Given the description of an element on the screen output the (x, y) to click on. 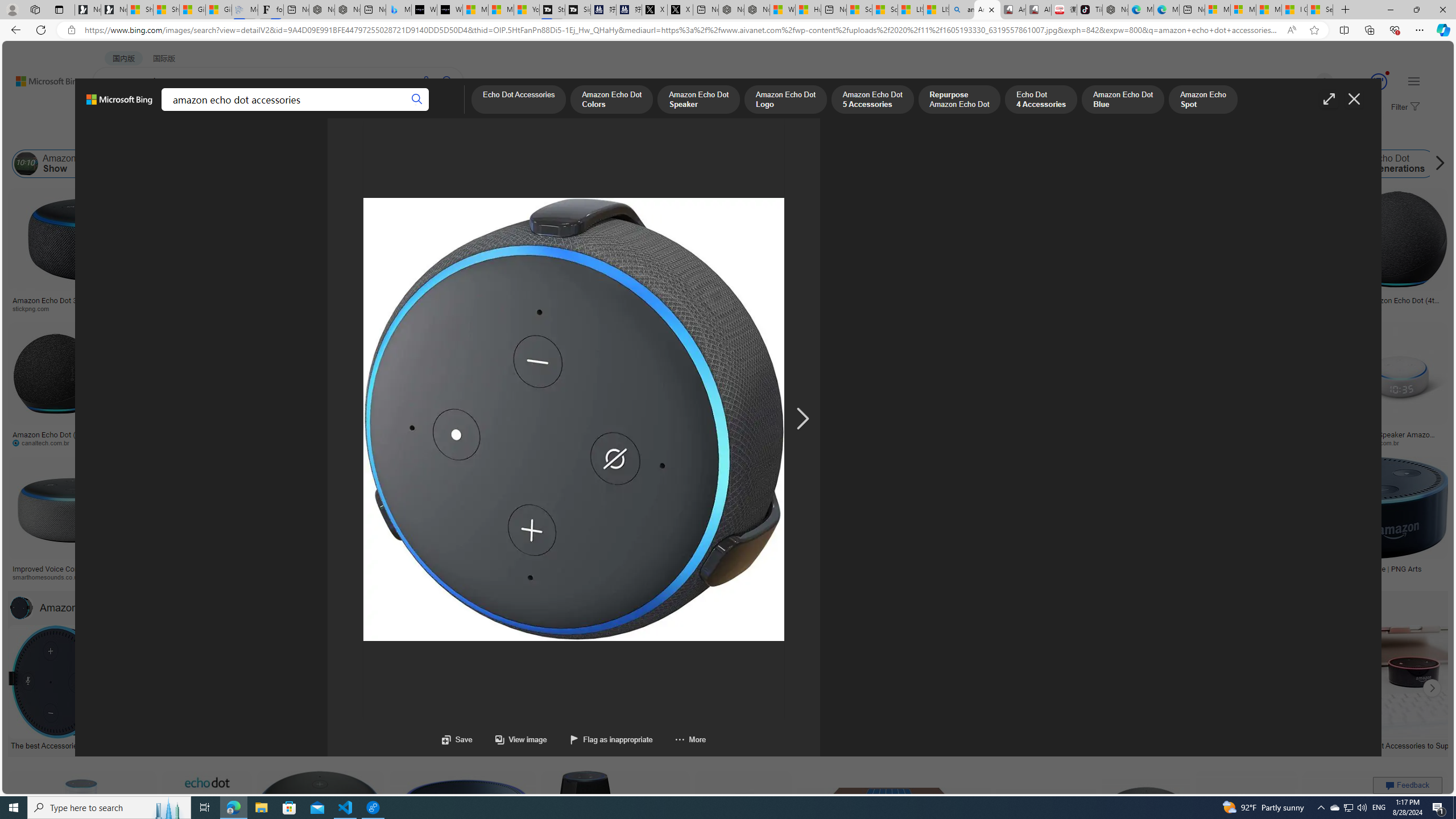
mediamarkt.es (674, 576)
Image size (127, 135)
winmaec.com (1148, 442)
Amazon Echo - Always ready, connected and fast. Just ask. (1070, 572)
stickpng.com (677, 308)
IMAGES (156, 111)
smarthomesounds.co.uk (73, 576)
Amazon Echo Dot with Clock (490, 163)
With Clock (565, 261)
